Given the description of an element on the screen output the (x, y) to click on. 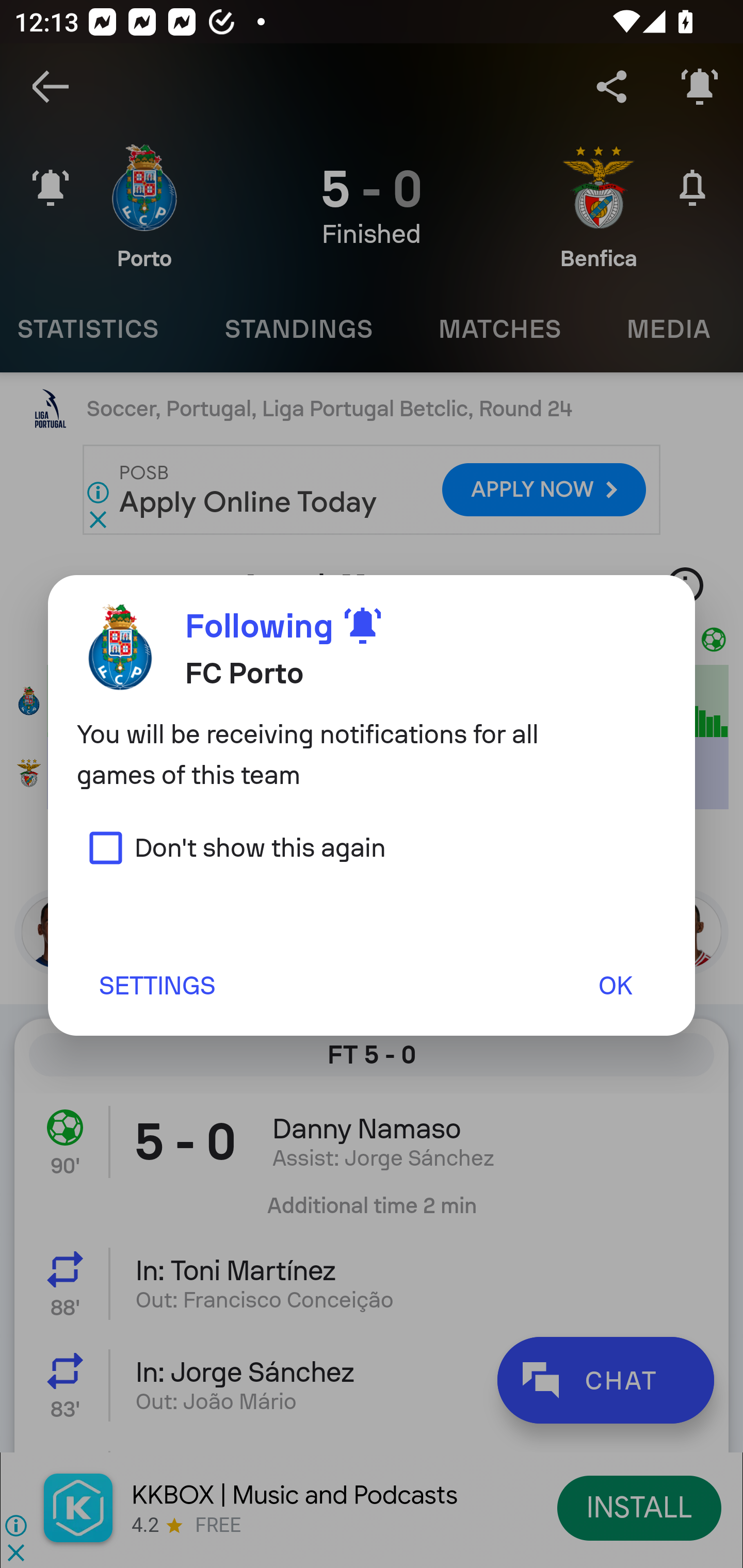
Don't show this again (231, 847)
SETTINGS (156, 985)
OK (615, 985)
